Given the description of an element on the screen output the (x, y) to click on. 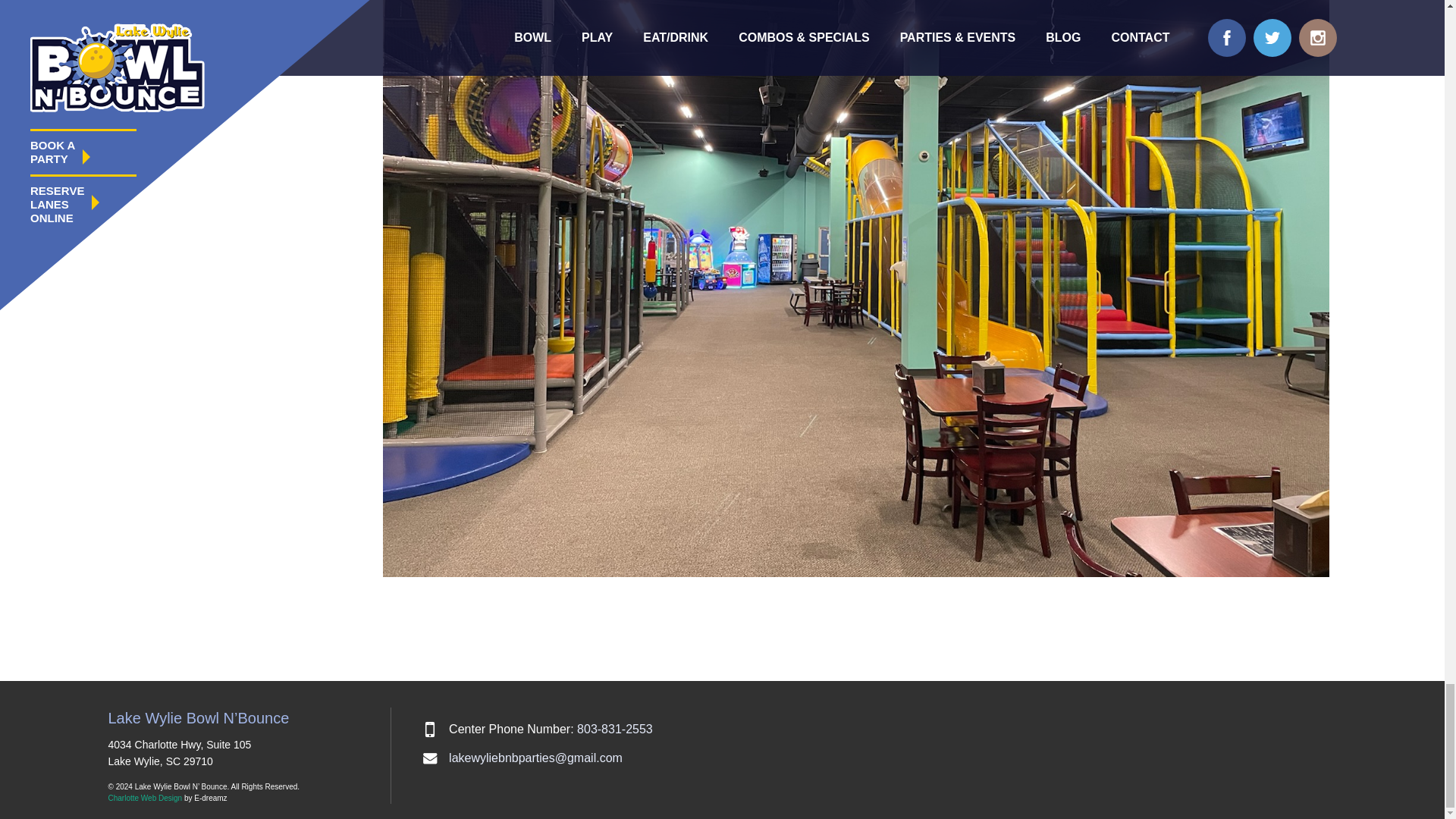
Charlotte Web Design (144, 797)
803-831-2553 (614, 728)
